Given the description of an element on the screen output the (x, y) to click on. 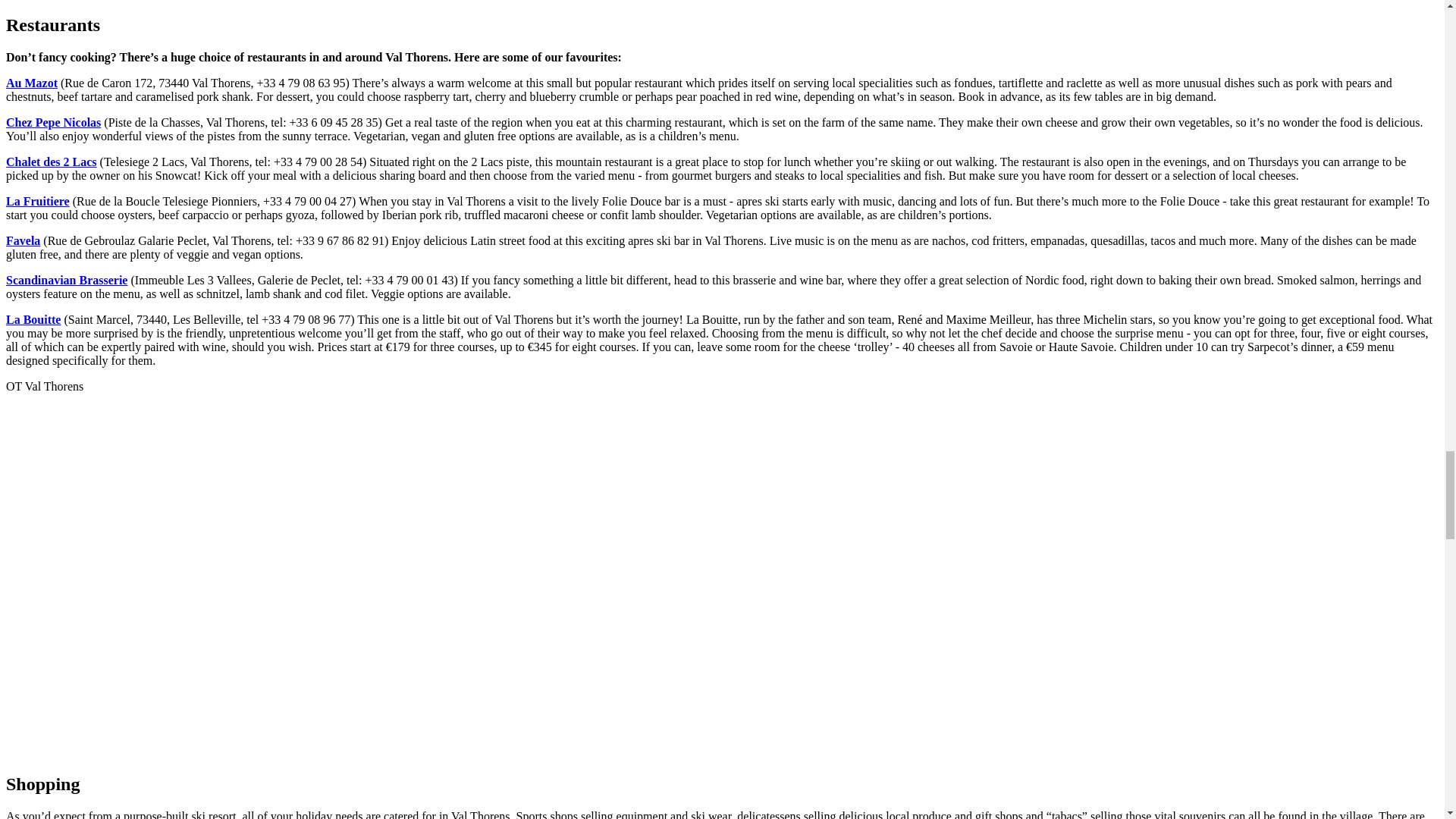
Chez Pepe Nicolas (52, 122)
Scandinavian Brasserie (66, 279)
Chalet des 2 Lacs (51, 161)
La Bouitte (33, 318)
La Fruitiere (37, 201)
Favela (22, 240)
Au Mazot (31, 82)
